Given the description of an element on the screen output the (x, y) to click on. 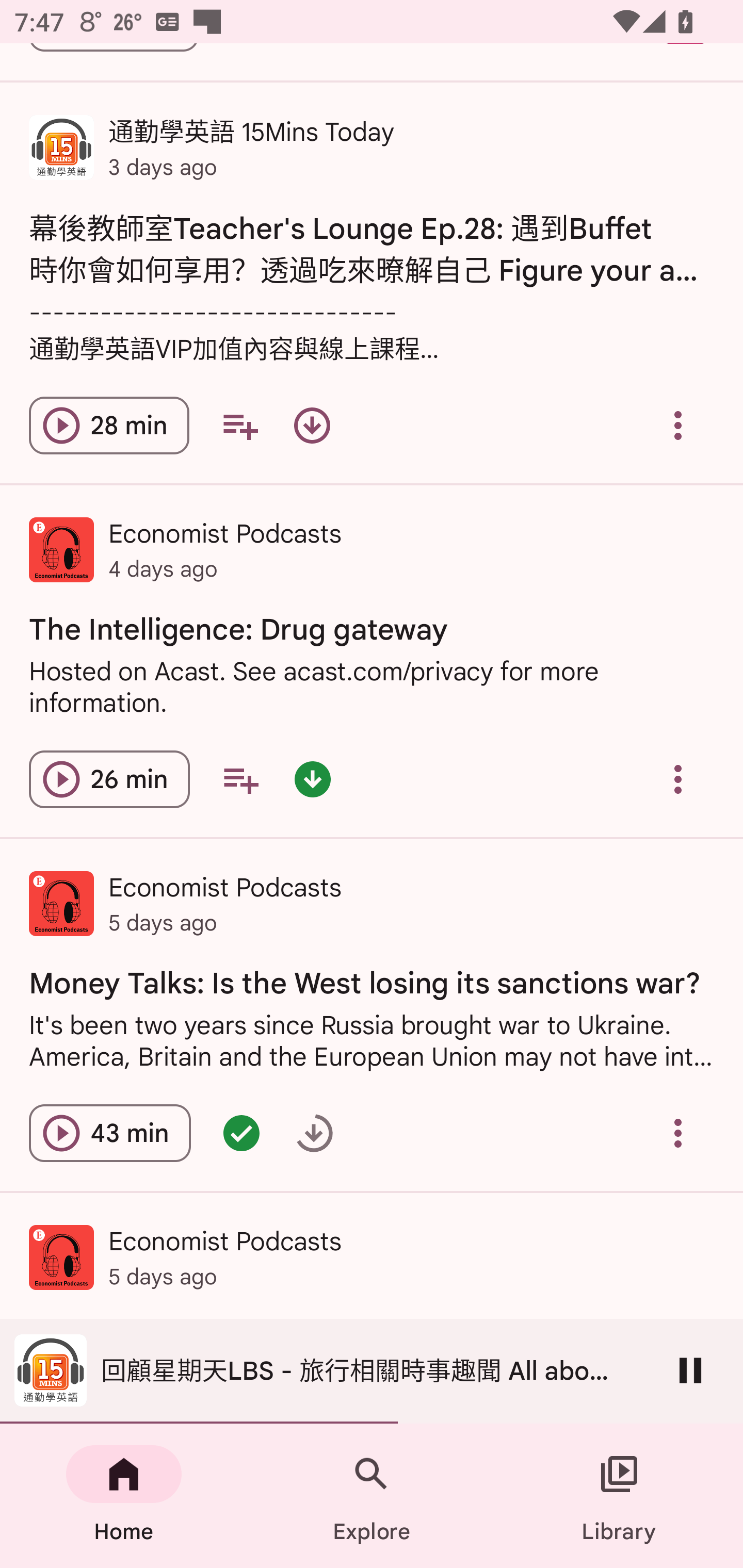
Add to your queue (239, 425)
Download episode (312, 425)
Overflow menu (677, 425)
Play episode The Intelligence: Drug gateway 26 min (109, 779)
Add to your queue (240, 779)
Episode downloaded - double tap for options (312, 779)
Overflow menu (677, 779)
Episode queued - double tap for options (241, 1132)
Queued to download - double tap for options (313, 1132)
Overflow menu (677, 1132)
Pause (690, 1370)
Explore (371, 1495)
Library (619, 1495)
